Given the description of an element on the screen output the (x, y) to click on. 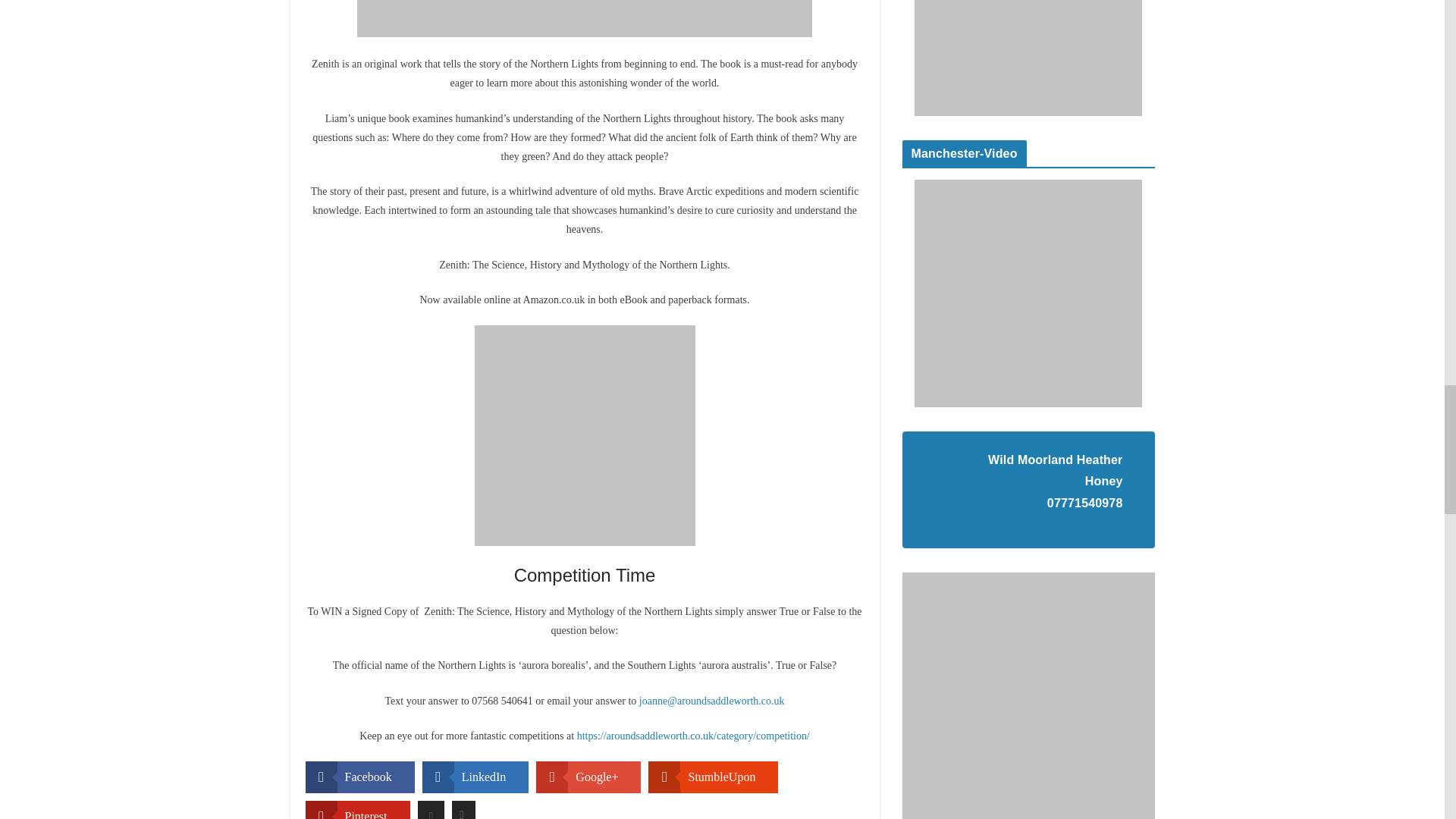
Pinterest (356, 809)
StumbleUpon (712, 777)
Facebook (358, 777)
LinkedIn (475, 777)
